Given the description of an element on the screen output the (x, y) to click on. 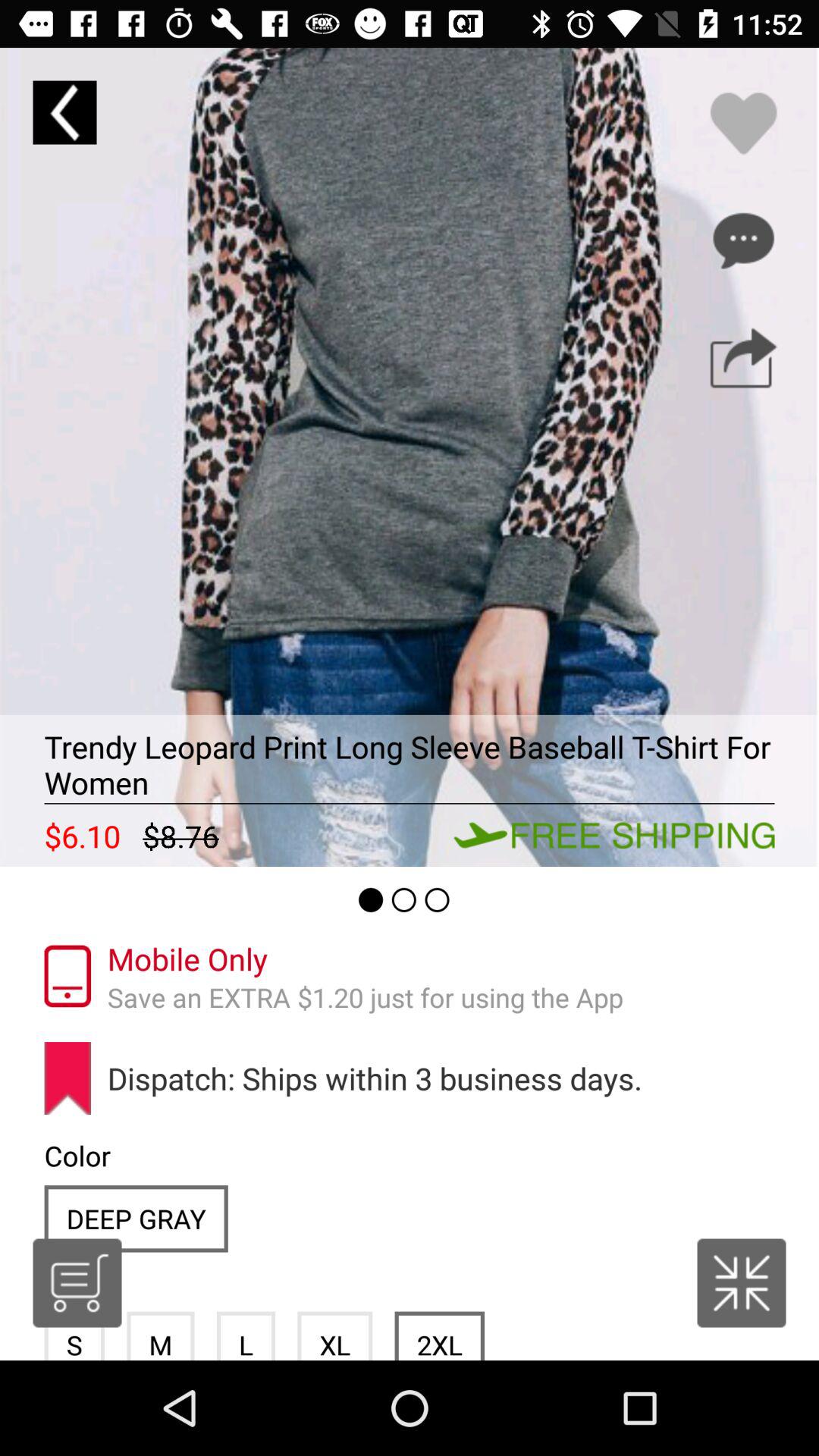
launch icon below the dispatch ships within item (334, 1335)
